Given the description of an element on the screen output the (x, y) to click on. 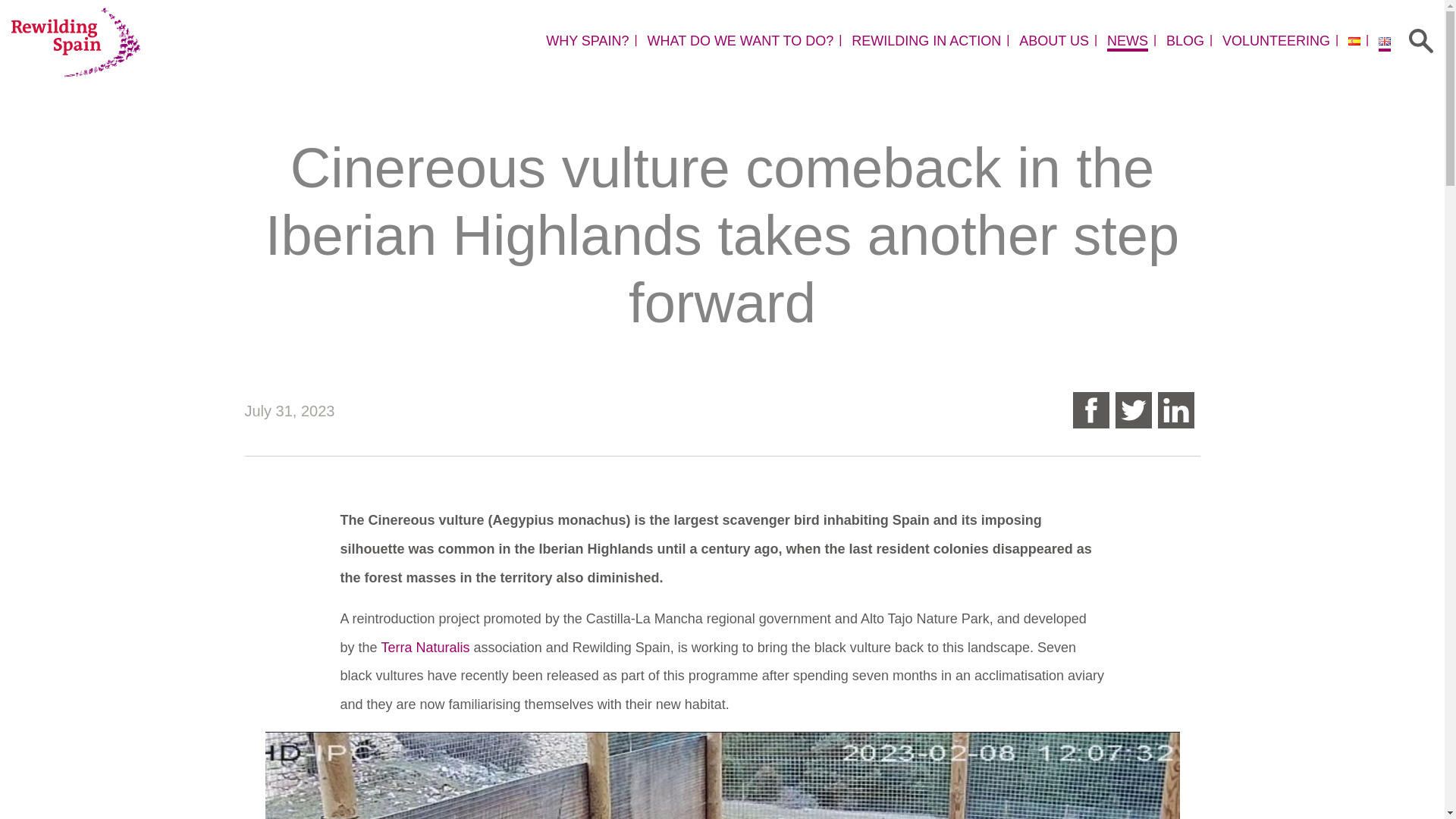
REWILDING IN ACTION (926, 40)
ABOUT US (1054, 40)
BLOG (1185, 40)
NEWS (1127, 40)
WHAT DO WE WANT TO DO? (740, 40)
VOLUNTEERING (1276, 40)
WHY SPAIN? (587, 40)
Terra Naturalis (425, 647)
